Given the description of an element on the screen output the (x, y) to click on. 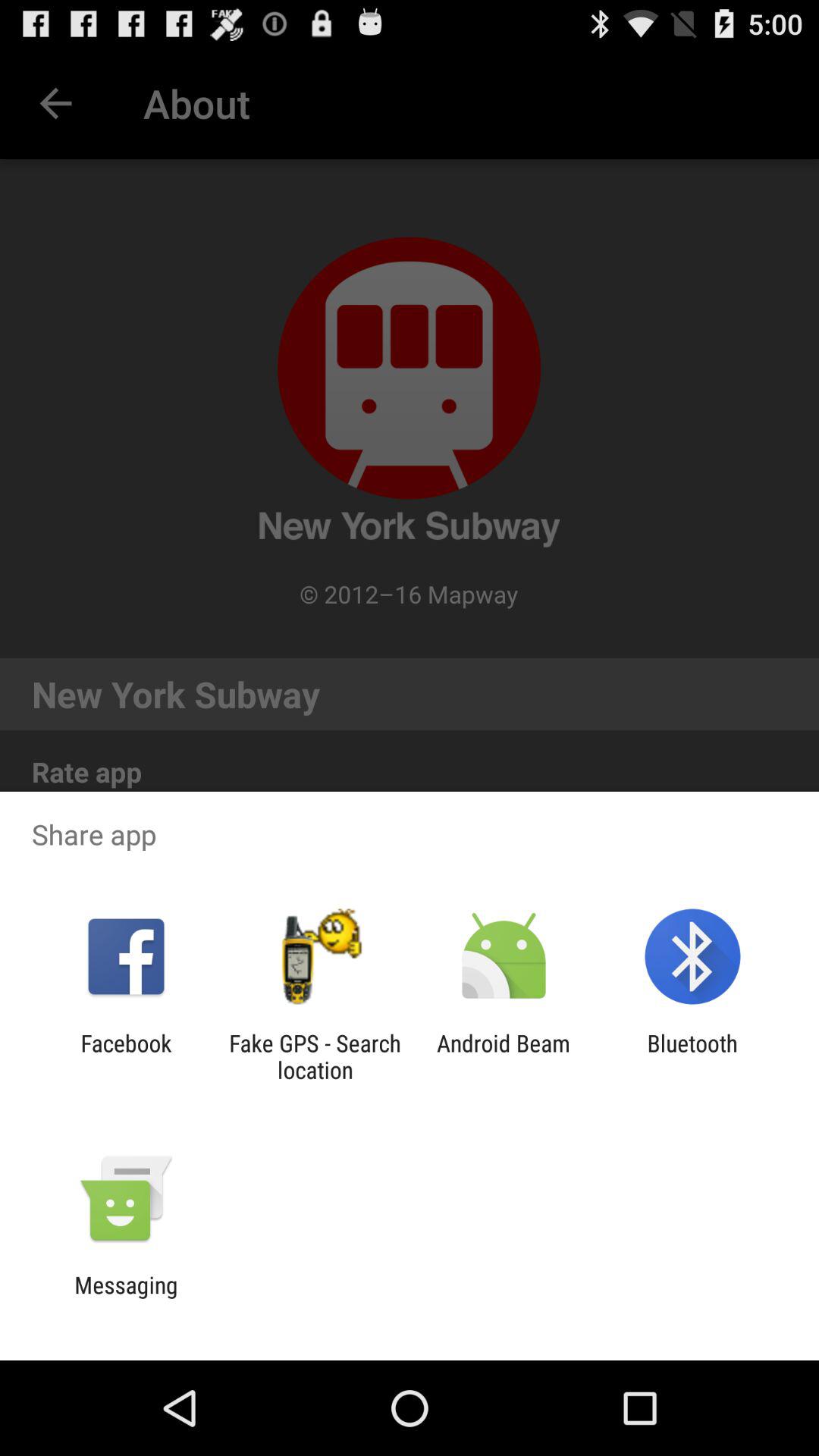
click item next to the fake gps search (503, 1056)
